Given the description of an element on the screen output the (x, y) to click on. 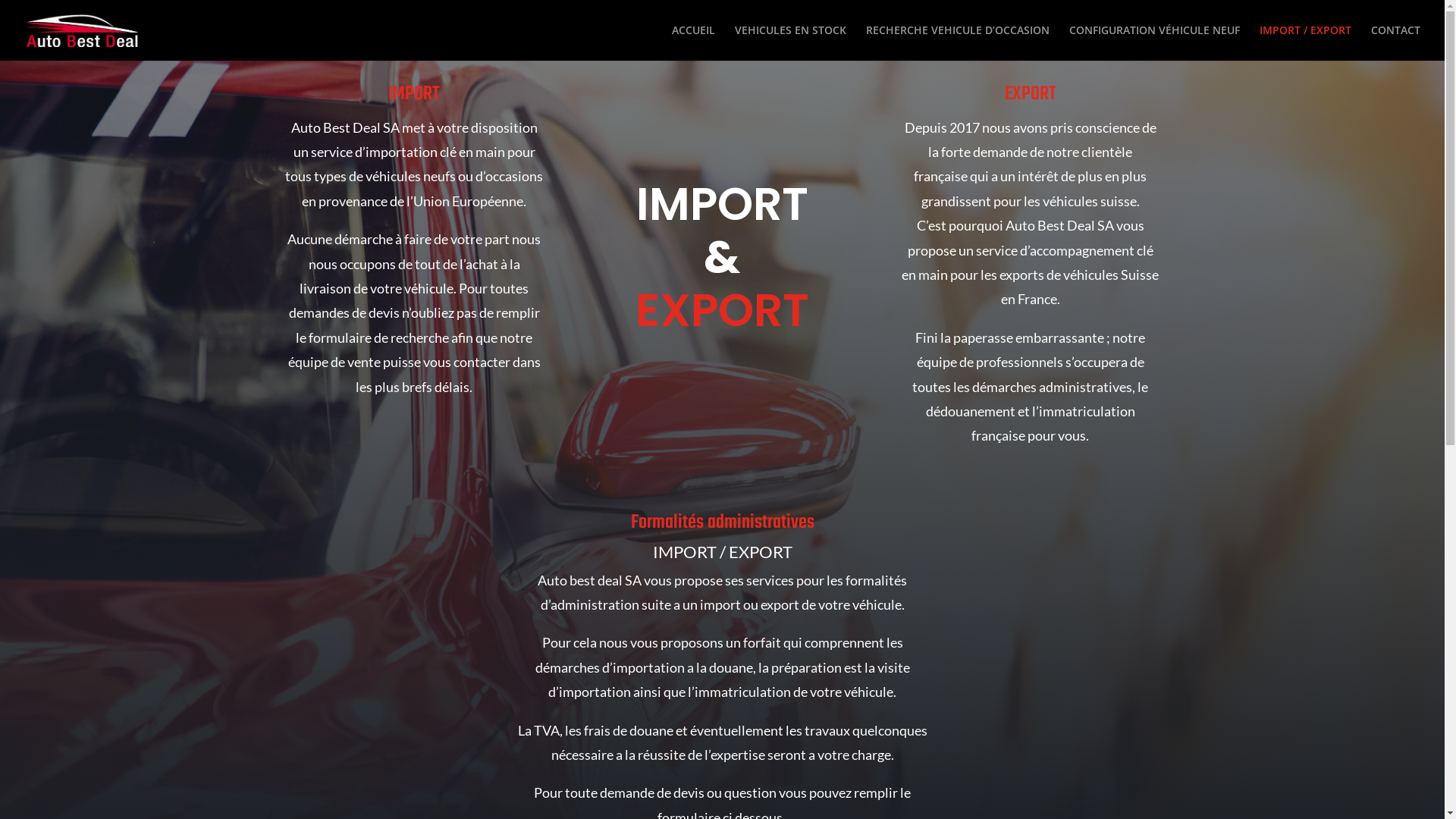
ACCUEIL Element type: text (693, 42)
CONTACT Element type: text (1395, 42)
IMPORT / EXPORT Element type: text (1305, 42)
VEHICULES EN STOCK Element type: text (790, 42)
